Given the description of an element on the screen output the (x, y) to click on. 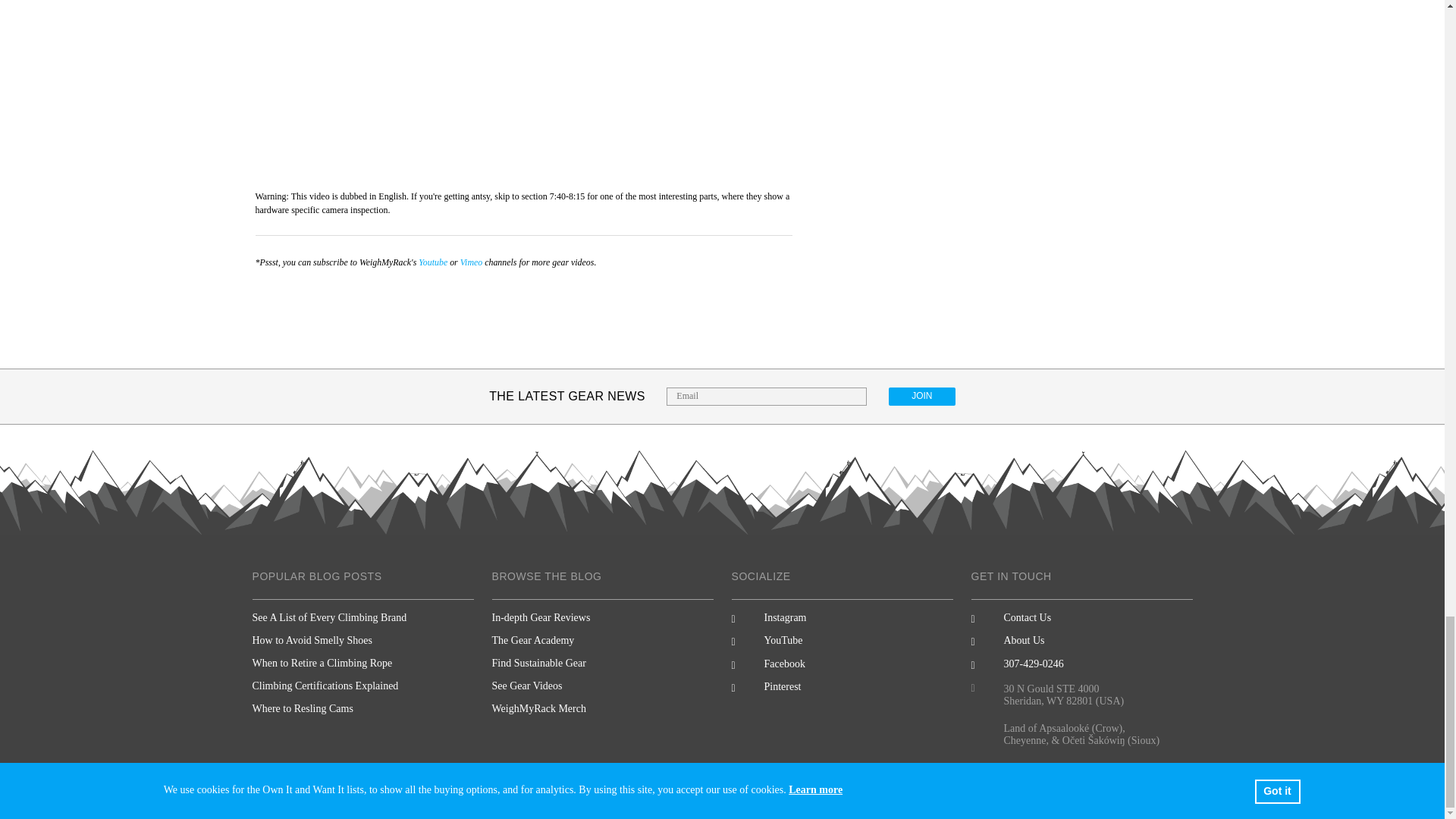
JOIN (921, 396)
